Given the description of an element on the screen output the (x, y) to click on. 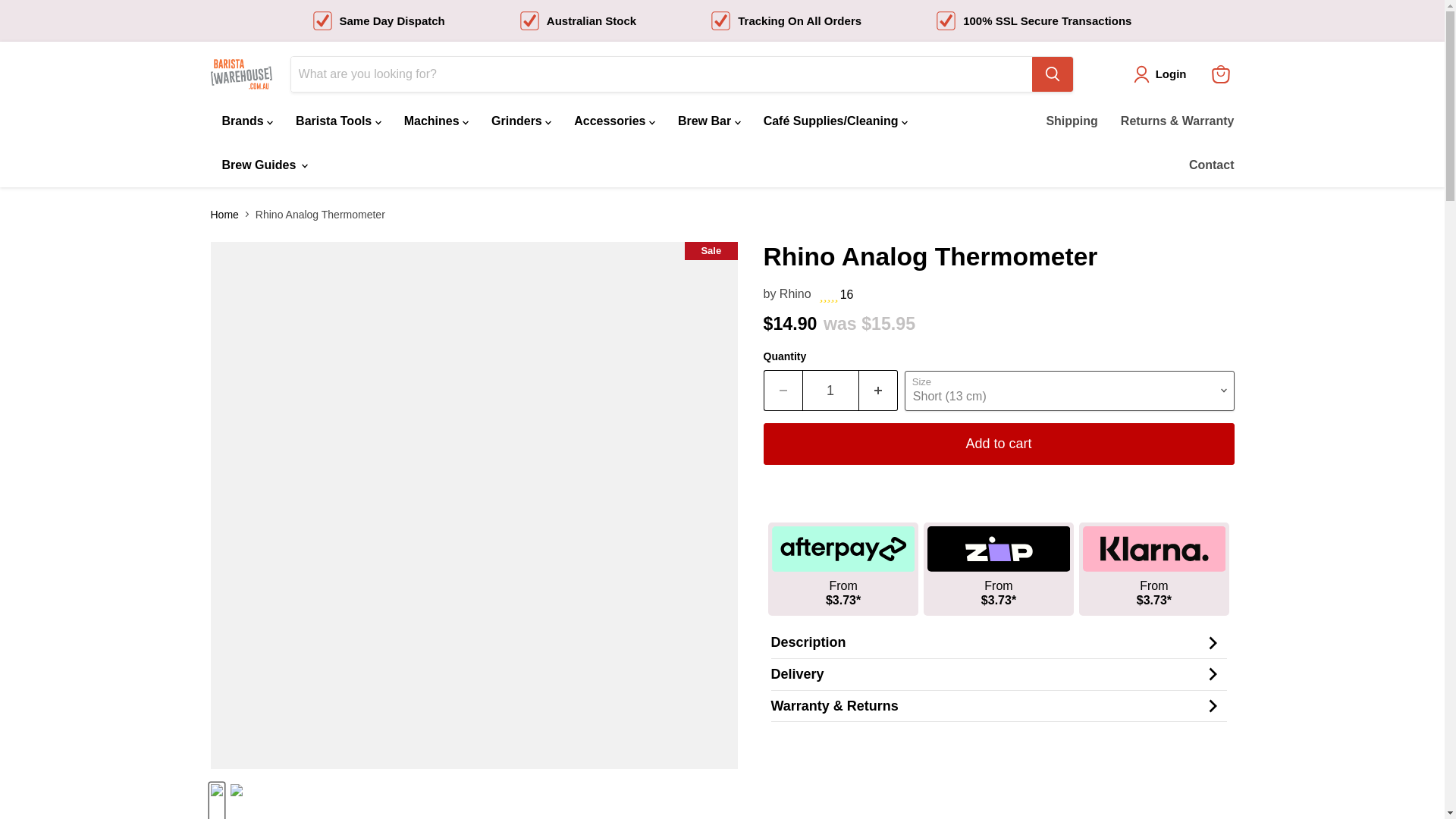
1 (830, 390)
Login (1163, 74)
View cart (1220, 73)
Rhino (794, 293)
